Given the description of an element on the screen output the (x, y) to click on. 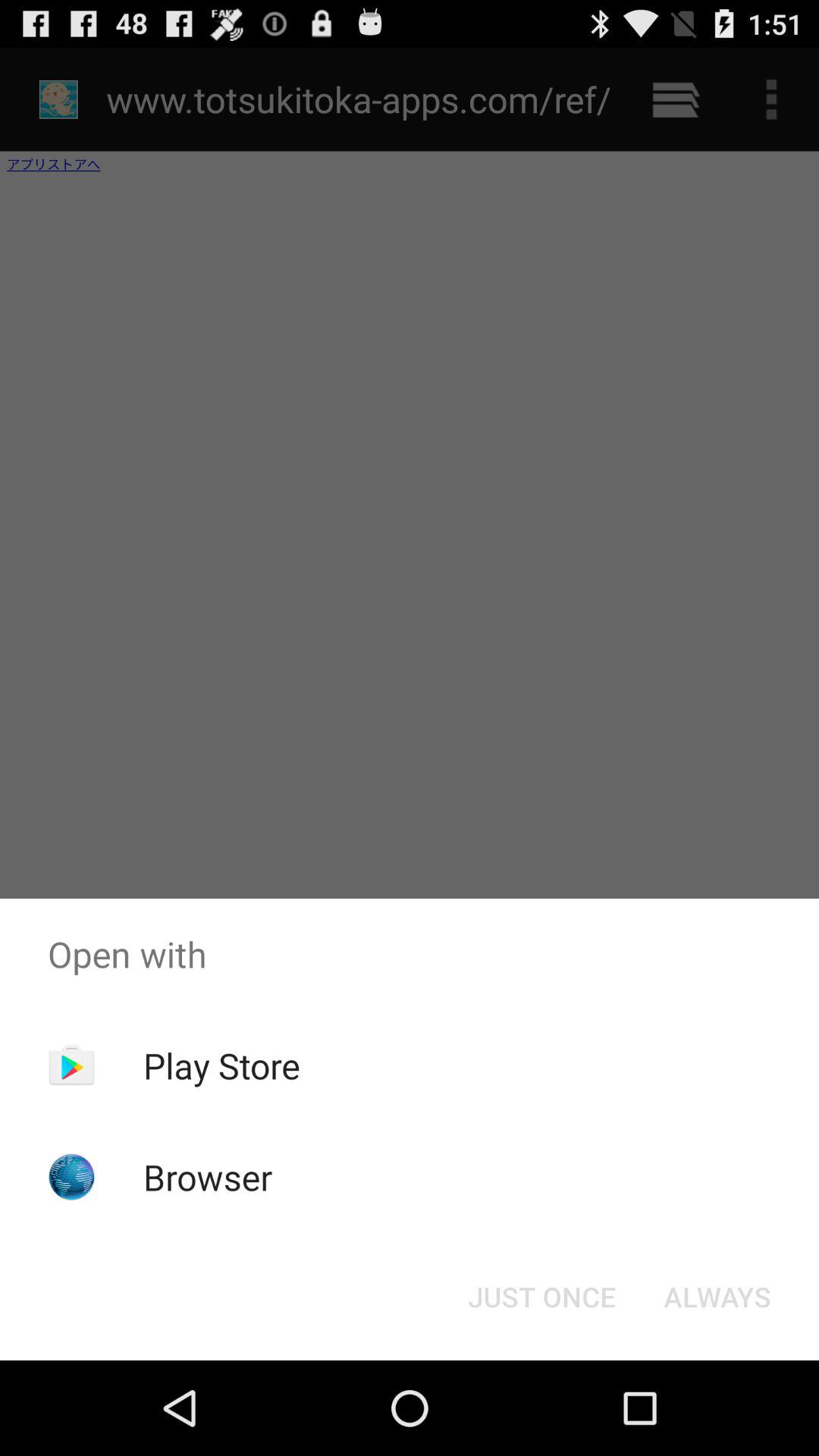
jump to always icon (717, 1296)
